Given the description of an element on the screen output the (x, y) to click on. 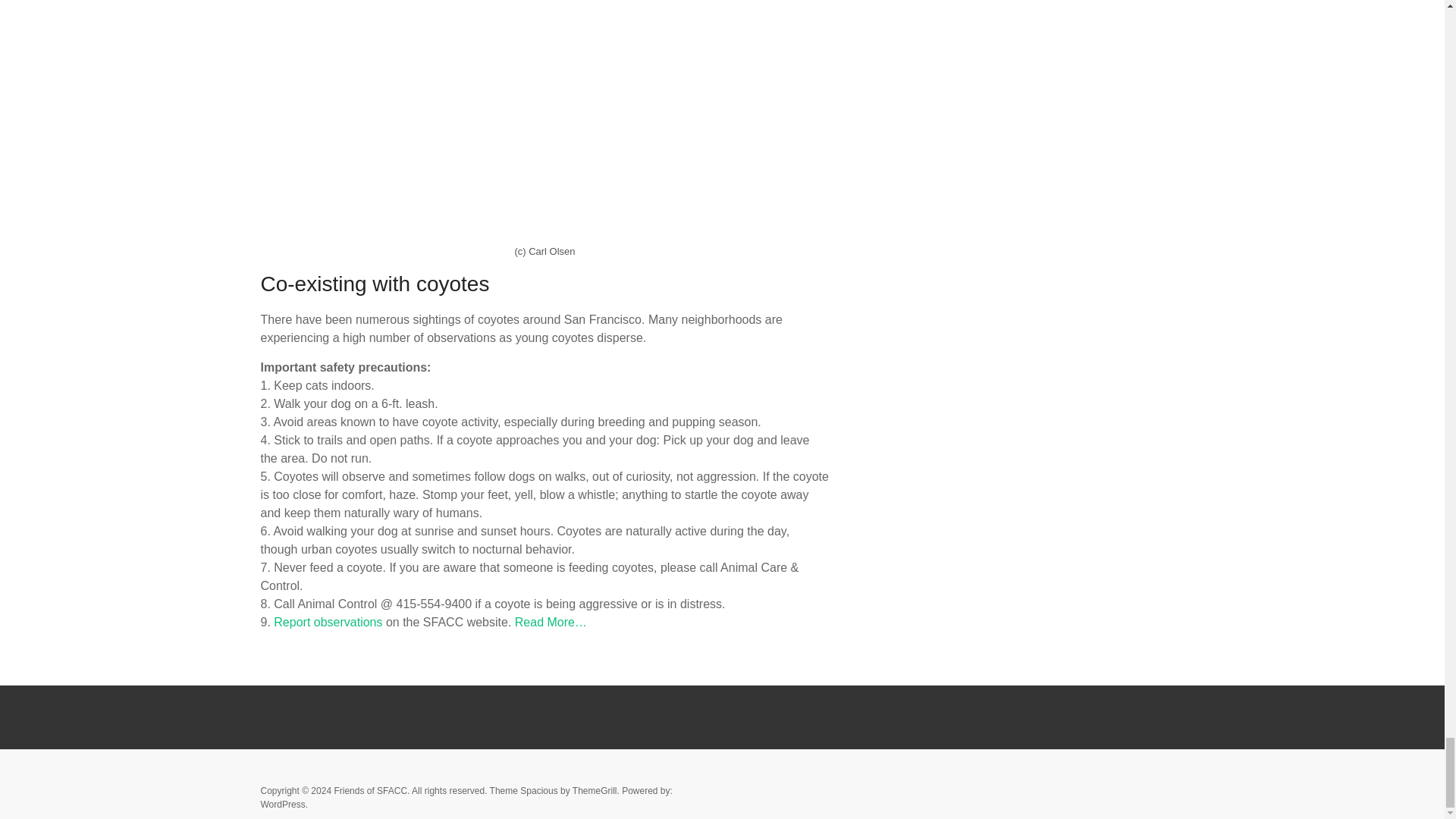
Friends of SFACC (370, 790)
Spacious (538, 790)
WordPress (282, 804)
